Given the description of an element on the screen output the (x, y) to click on. 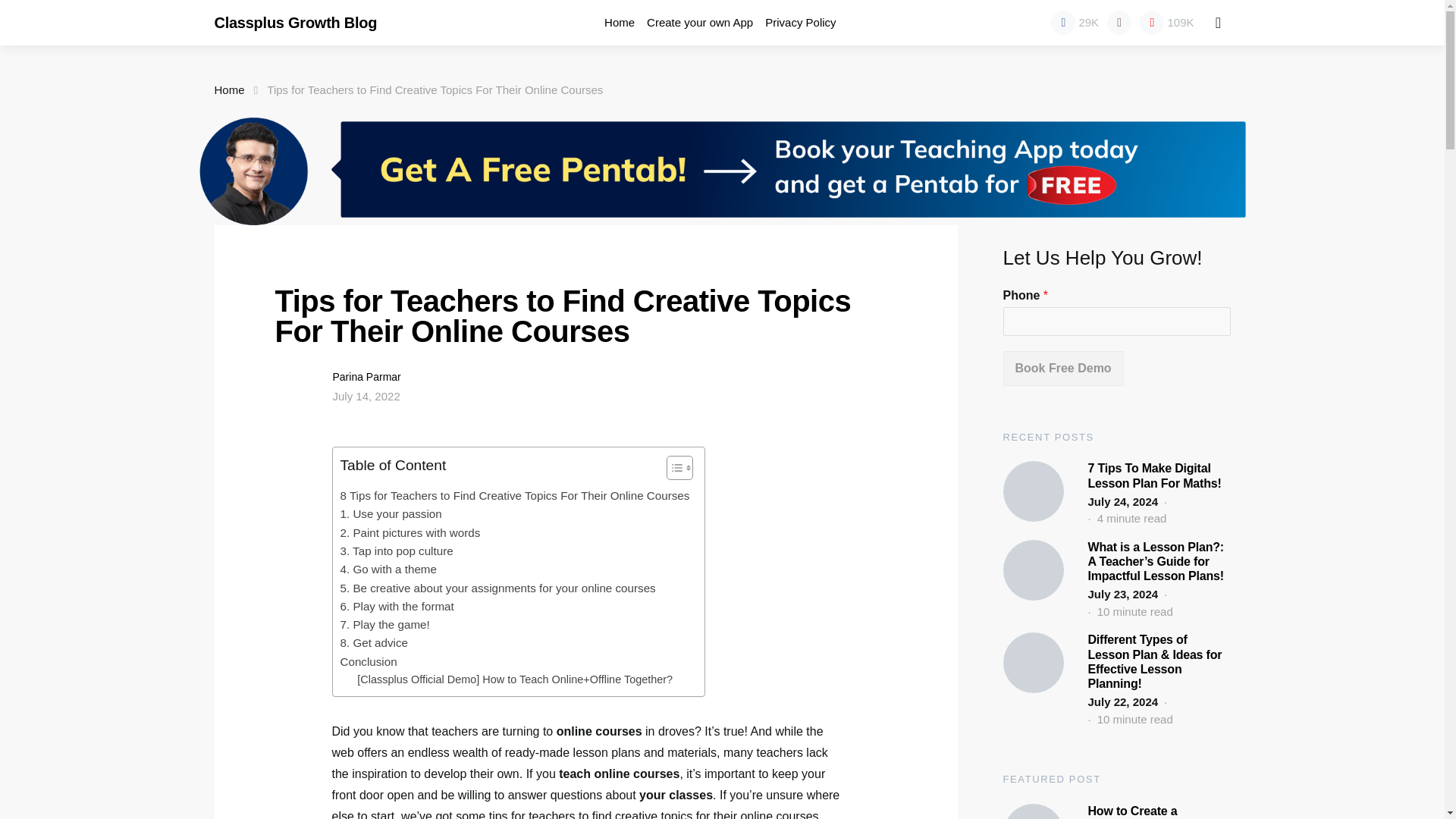
3. Tap into pop culture (395, 551)
4. Go with a theme (387, 569)
2. Paint pictures with words (409, 533)
1. Use your passion (390, 514)
7. Play the game! (384, 624)
6. Play with the format (395, 606)
Conclusion (367, 661)
8. Get advice (373, 642)
